Given the description of an element on the screen output the (x, y) to click on. 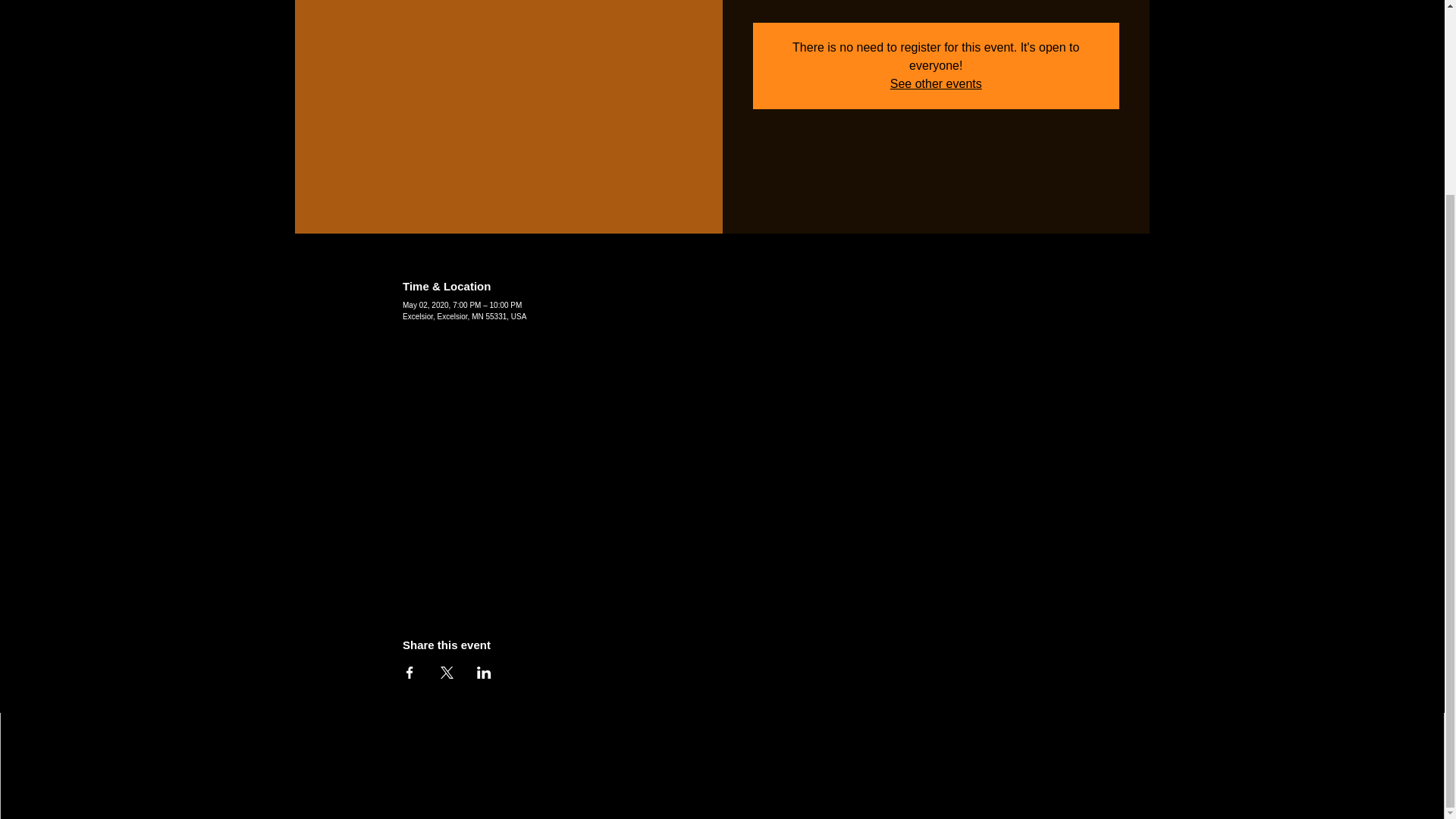
See other events (935, 83)
